Given the description of an element on the screen output the (x, y) to click on. 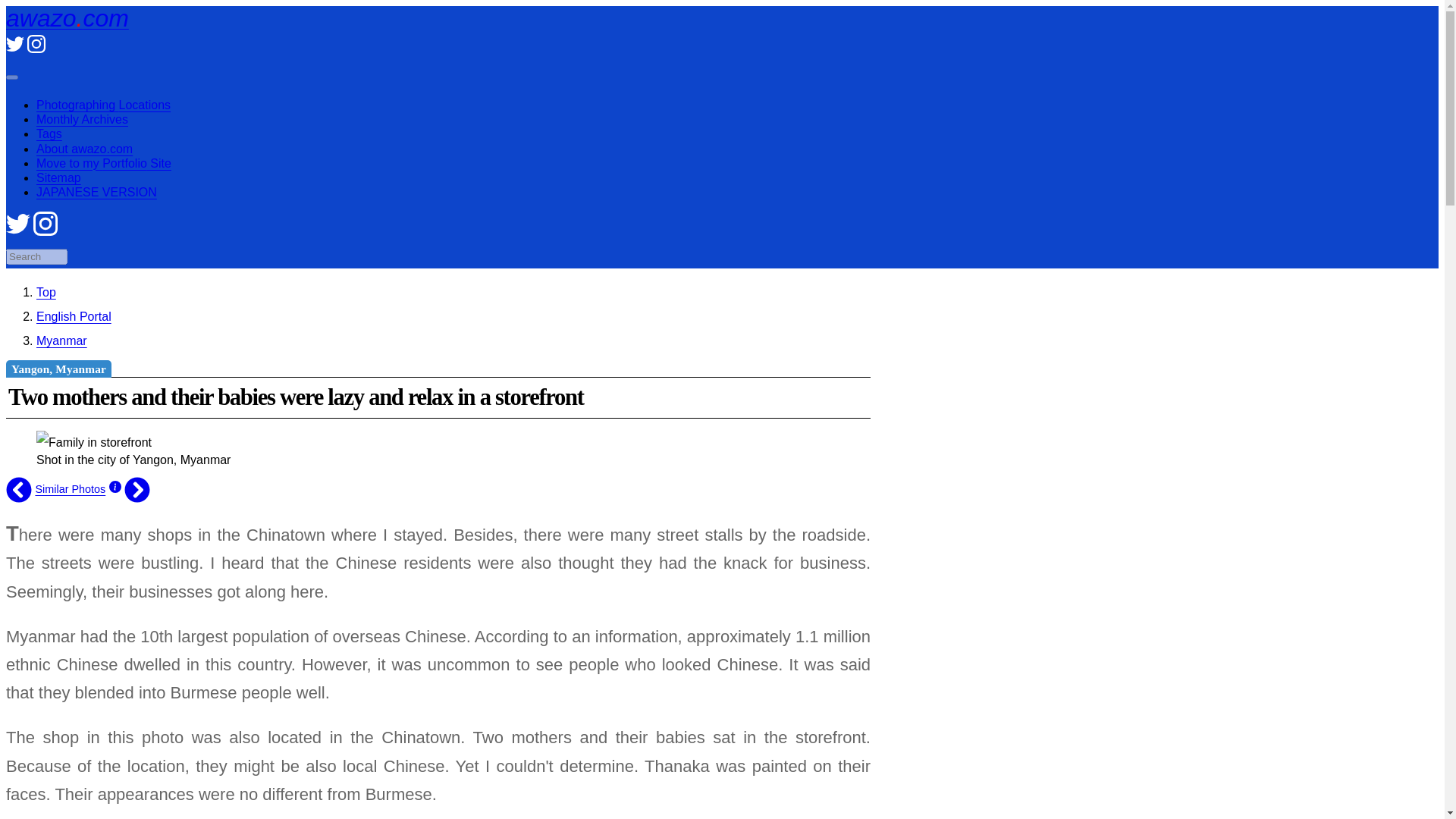
Myanmar (61, 340)
English Portal (74, 316)
Move to my Portfolio Site (103, 163)
Monthly Archives (82, 119)
JAPANESE VERSION (96, 192)
awazo.com (67, 17)
Top (46, 291)
Tags (49, 133)
Twitter (14, 48)
English Portal (74, 316)
Photo Information (114, 489)
Instagram (45, 231)
awazo.com (67, 17)
Similar Photos (69, 489)
awazo.com (46, 291)
